Given the description of an element on the screen output the (x, y) to click on. 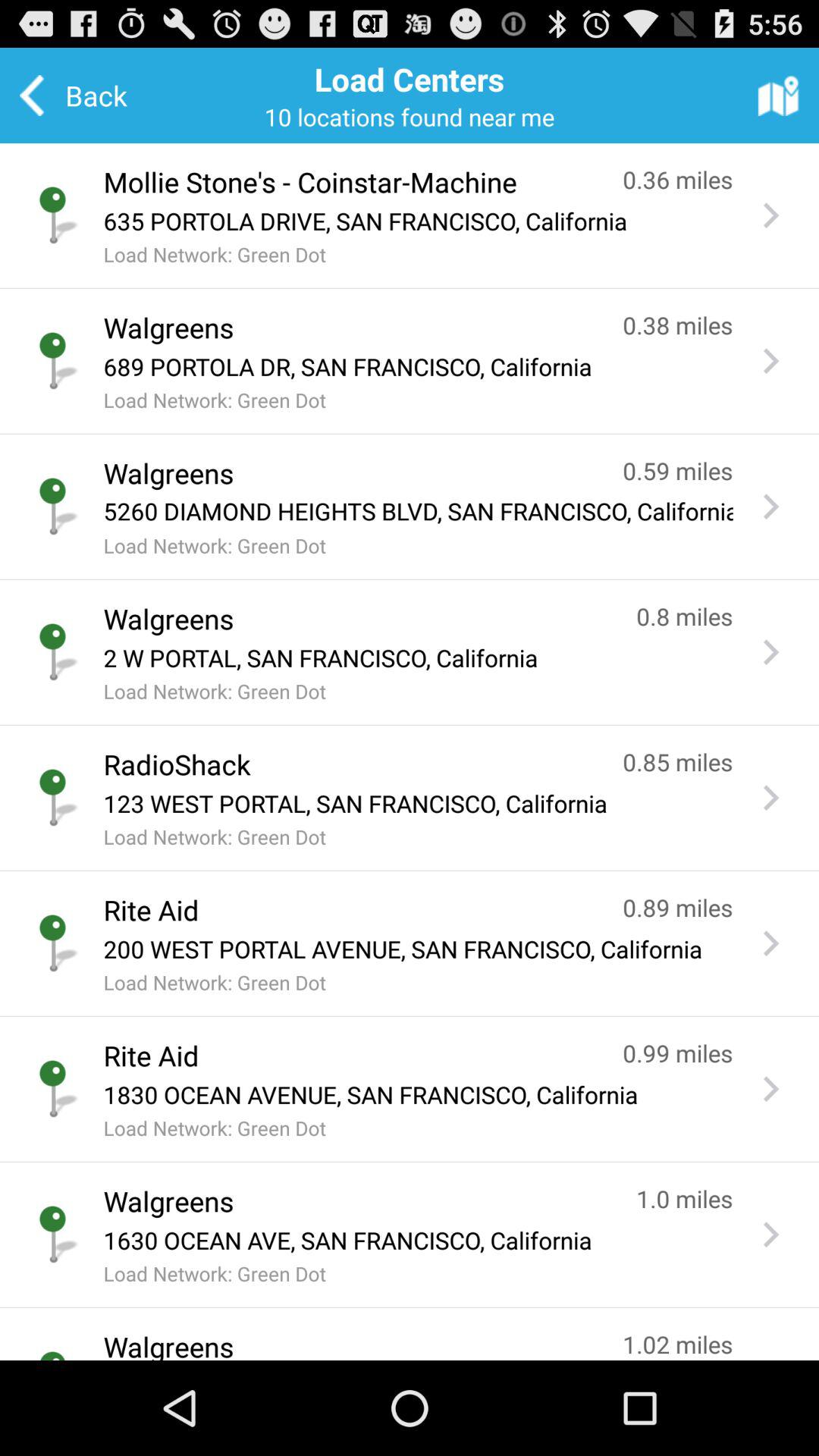
click the 2 w portal app (418, 657)
